Given the description of an element on the screen output the (x, y) to click on. 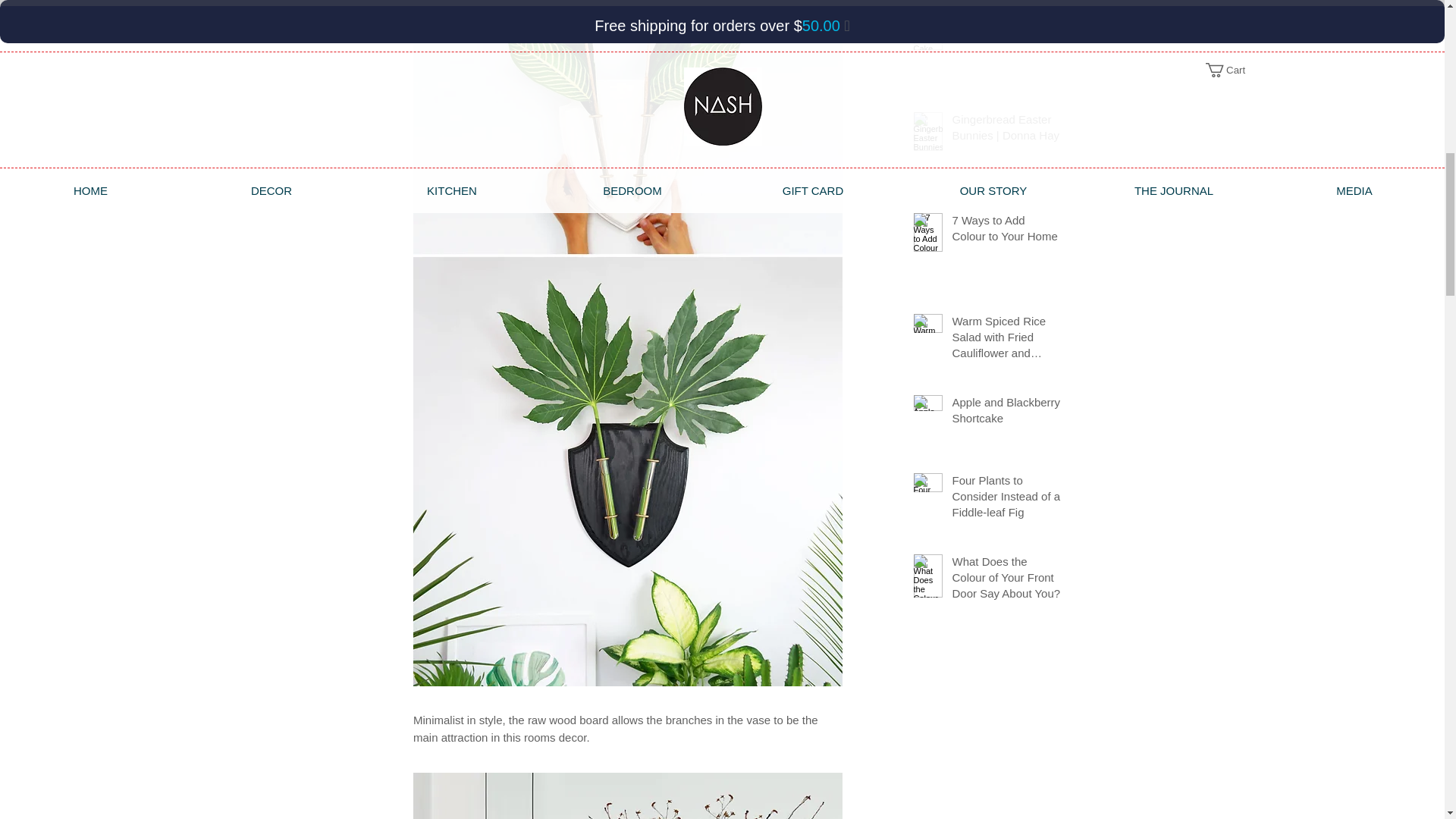
7 Ways to Add Colour to Your Home (1006, 231)
Warm Spiced Rice Salad with Fried Cauliflower and Broccoli (1006, 339)
Vanilla Lavender Cake (1006, 31)
